Given the description of an element on the screen output the (x, y) to click on. 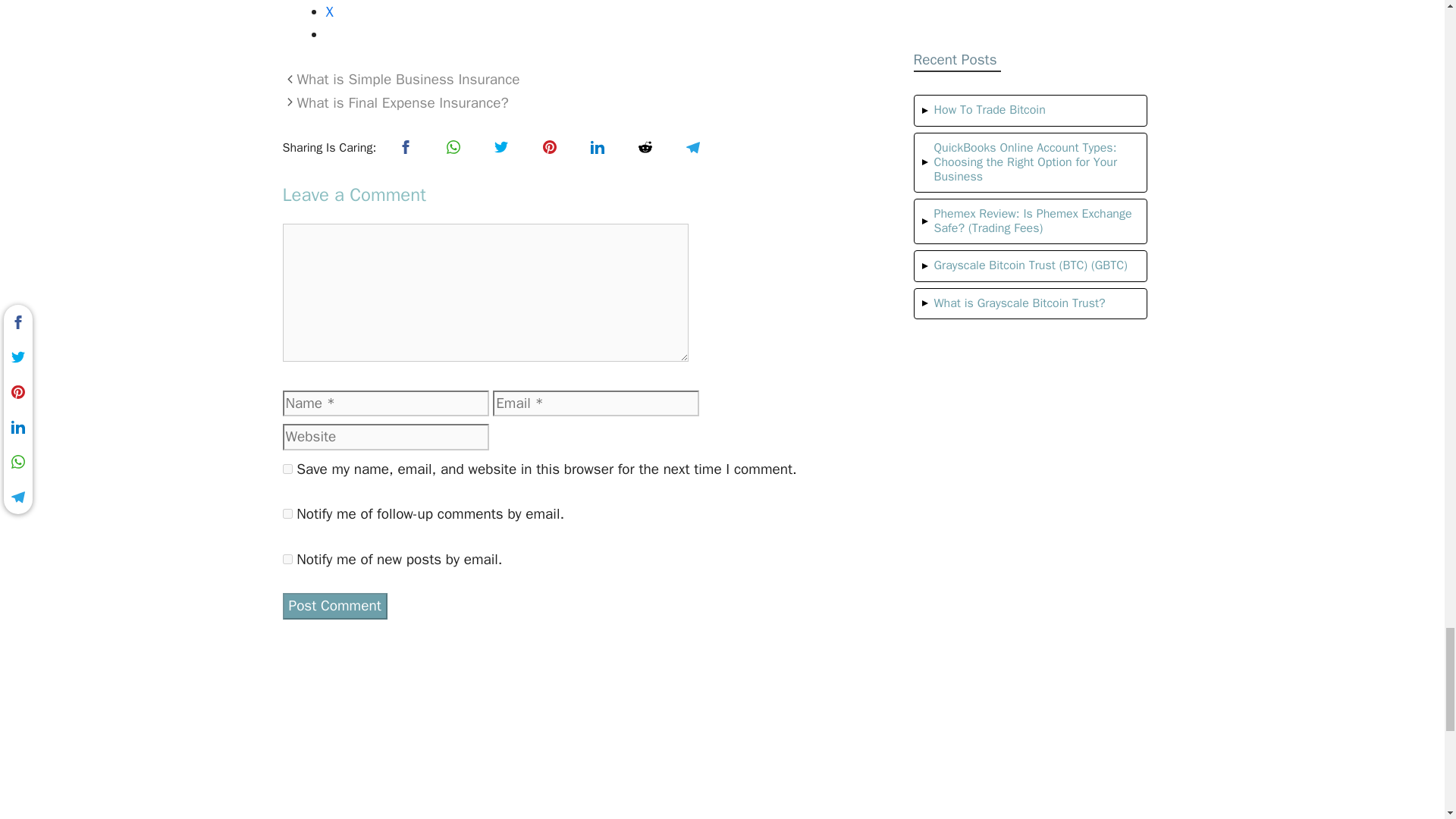
yes (287, 469)
Post Comment (334, 605)
subscribe (287, 559)
subscribe (287, 513)
